Given the description of an element on the screen output the (x, y) to click on. 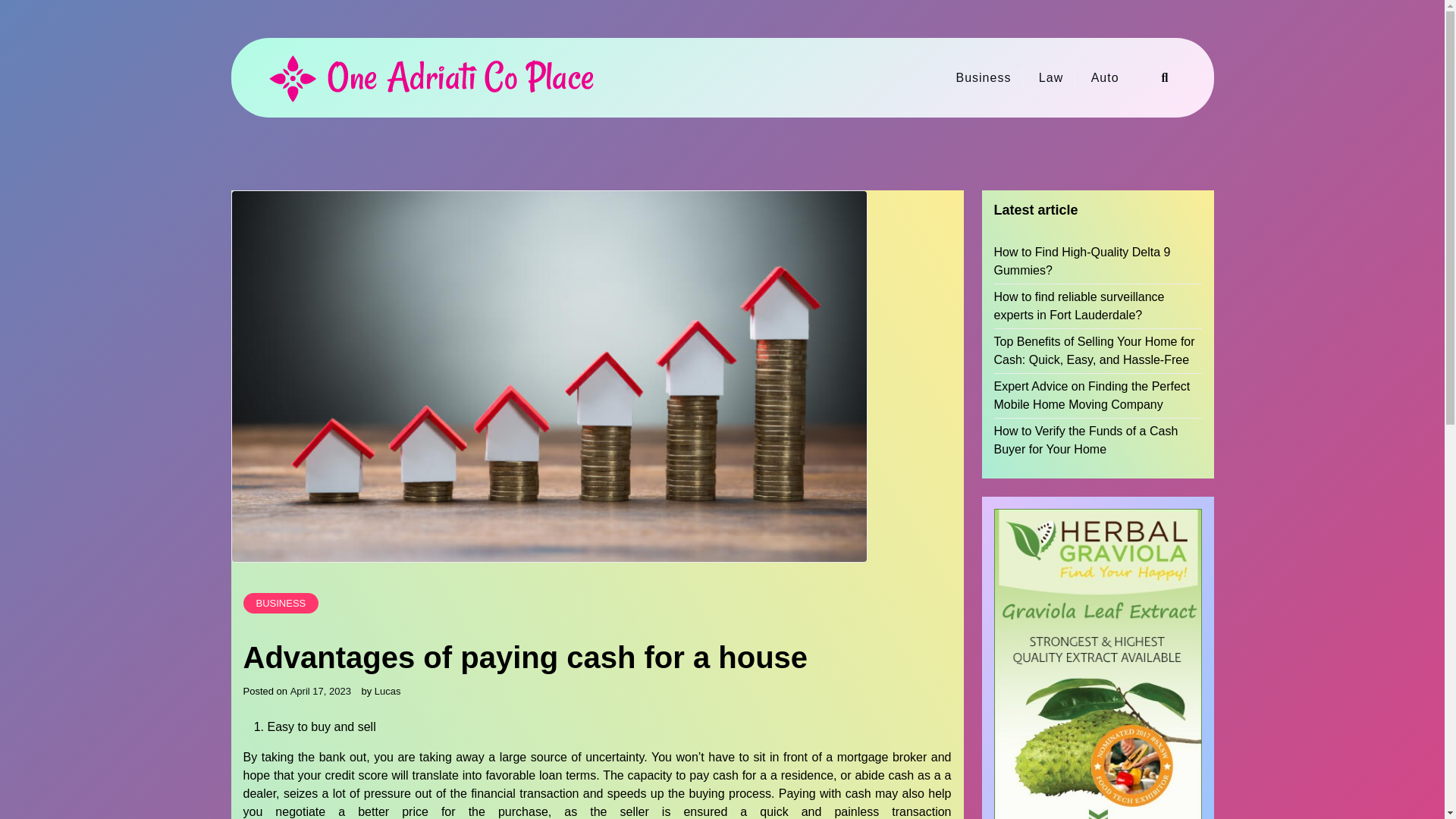
Lucas (387, 691)
How to Find High-Quality Delta 9 Gummies? (1096, 261)
Business (983, 77)
Auto (1104, 77)
Search (1026, 409)
Law (1050, 77)
How to Verify the Funds of a Cash Buyer for Your Home (1096, 440)
BUSINESS (280, 603)
April 17, 2023 (319, 691)
